Given the description of an element on the screen output the (x, y) to click on. 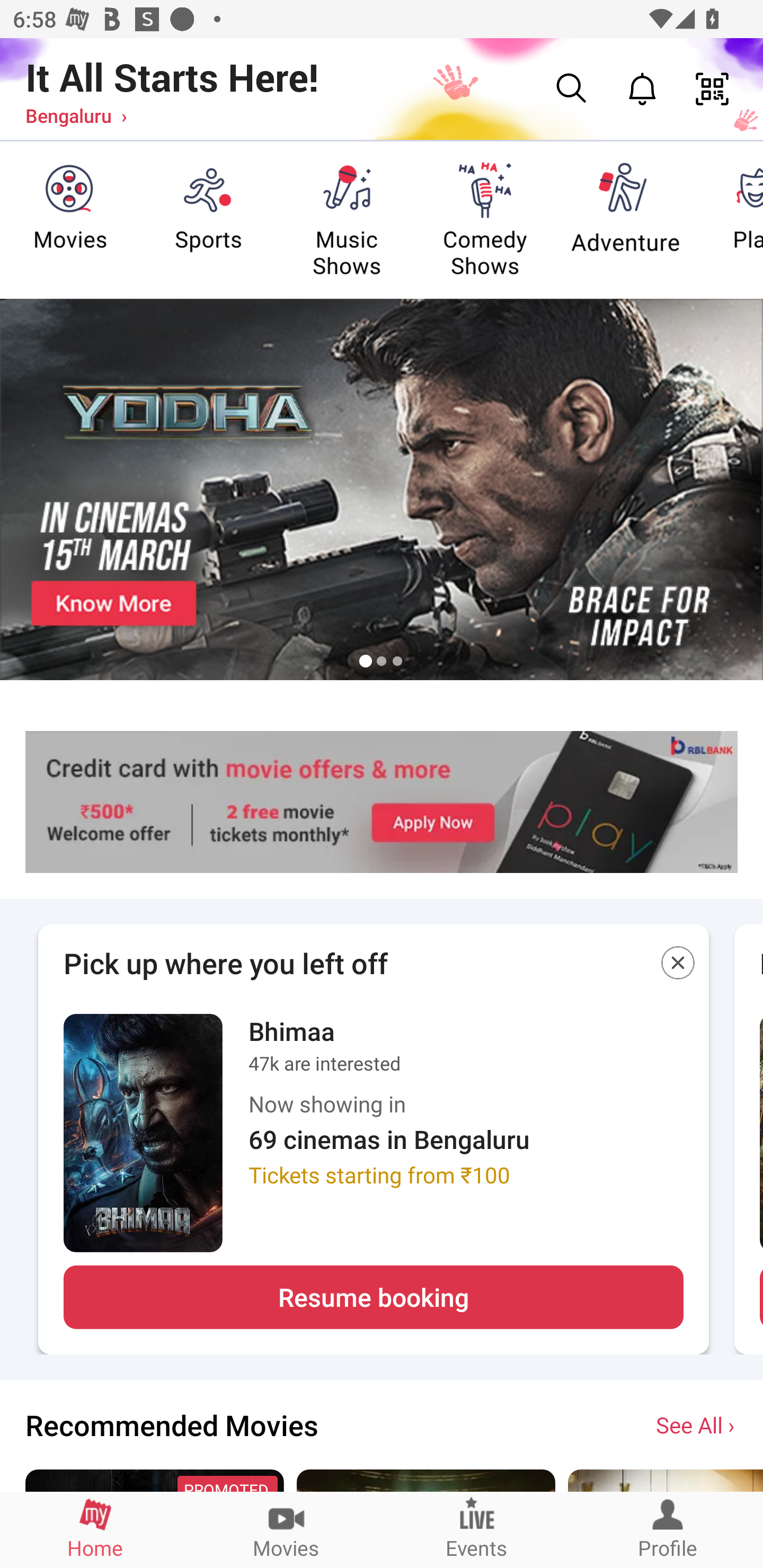
Bengaluru  › (76, 114)
  (678, 966)
Resume booking (373, 1297)
See All › (696, 1424)
Home (95, 1529)
Movies (285, 1529)
Events (476, 1529)
Profile (667, 1529)
